Given the description of an element on the screen output the (x, y) to click on. 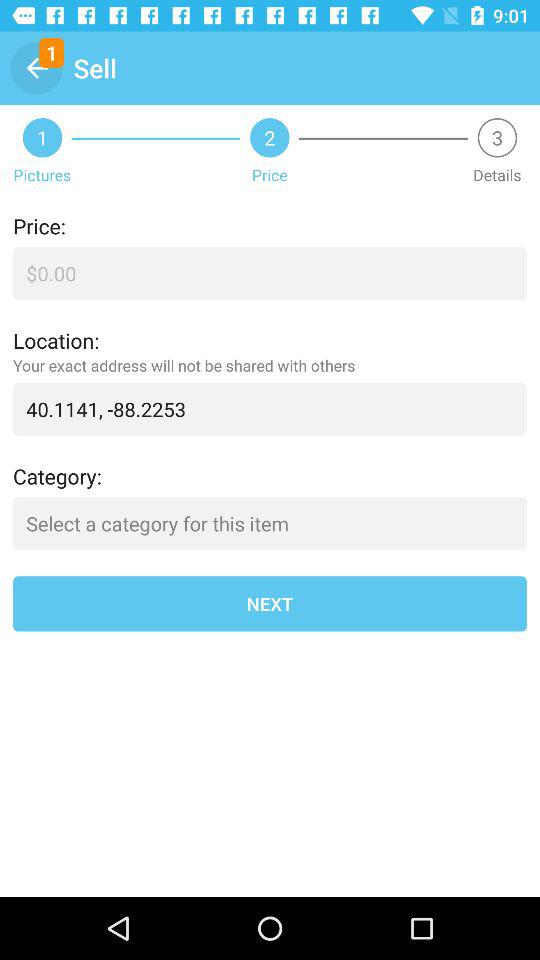
prince enter button (269, 273)
